Given the description of an element on the screen output the (x, y) to click on. 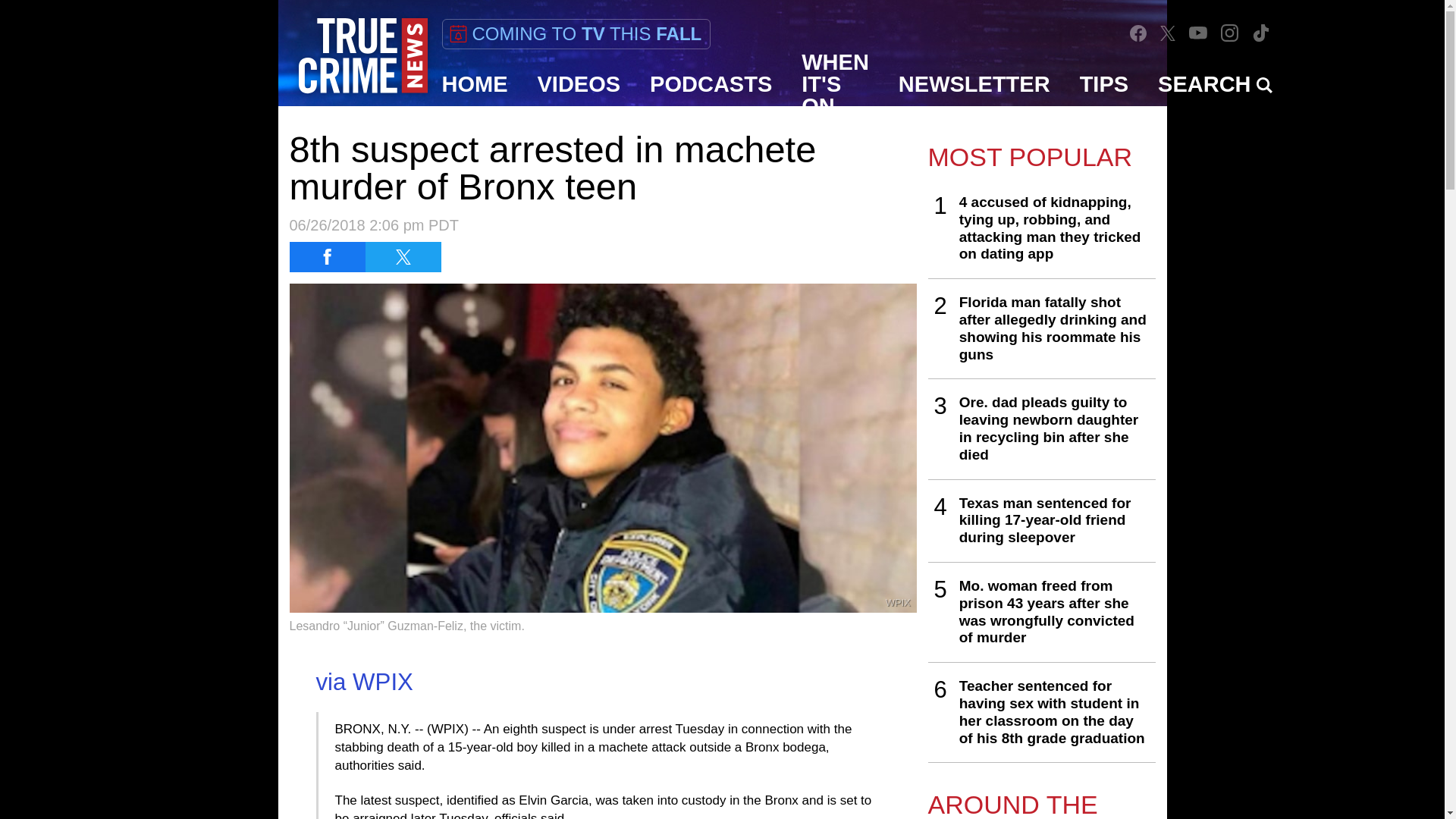
PODCASTS (710, 84)
YouTube (1198, 32)
True Crime News (363, 56)
TIPS (1103, 84)
Twitter (1167, 32)
Facebook (1138, 32)
COMING TO TV THIS FALL (575, 33)
SEARCH (1214, 84)
YouTube (1198, 32)
WHEN IT'S ON (835, 84)
TikTok (1260, 32)
Twitter (1167, 32)
Instagram (1229, 32)
VIDEOS (579, 84)
Facebook (1137, 33)
